Given the description of an element on the screen output the (x, y) to click on. 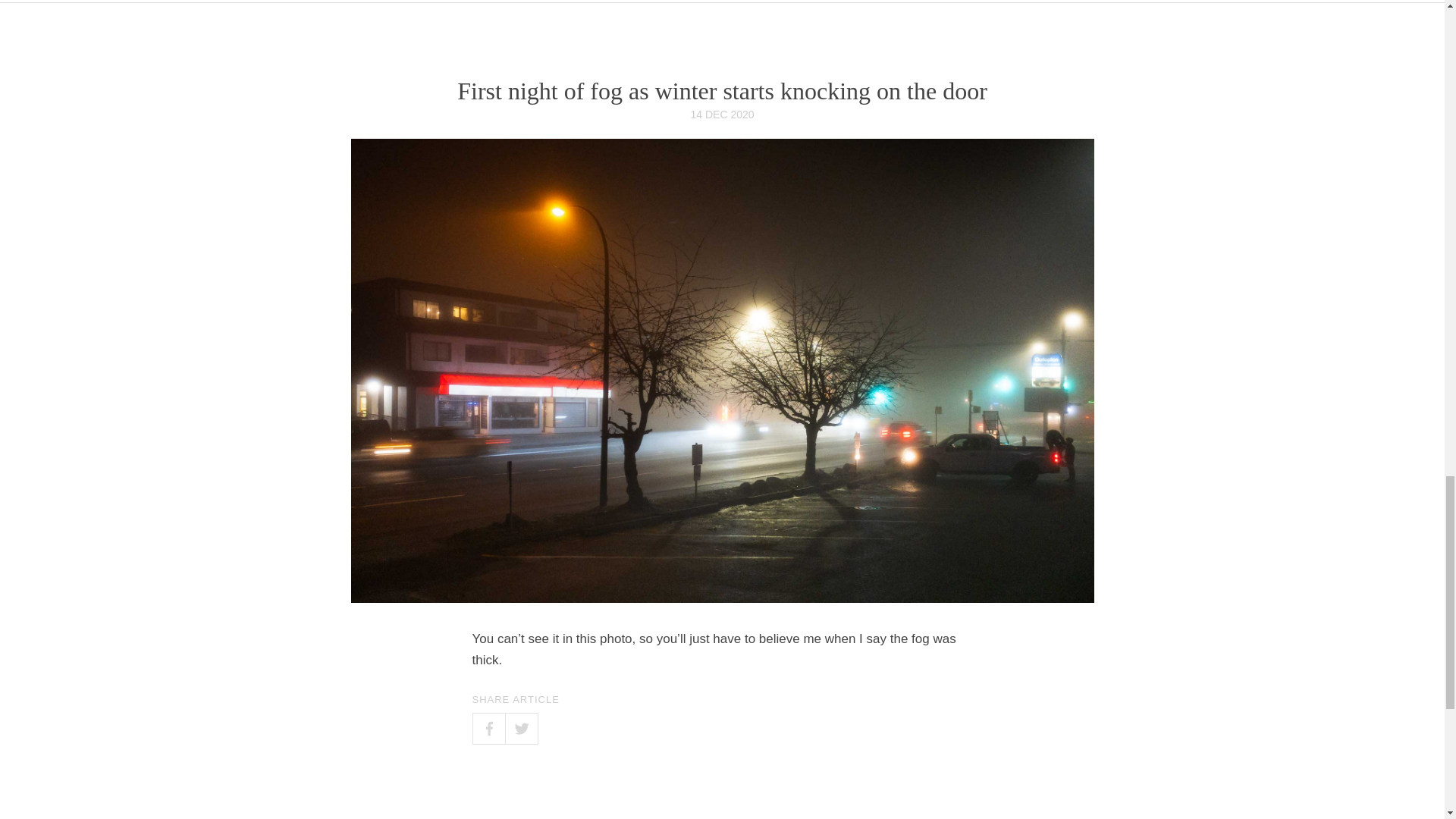
First night of fog as winter starts knocking on the door (722, 90)
